Given the description of an element on the screen output the (x, y) to click on. 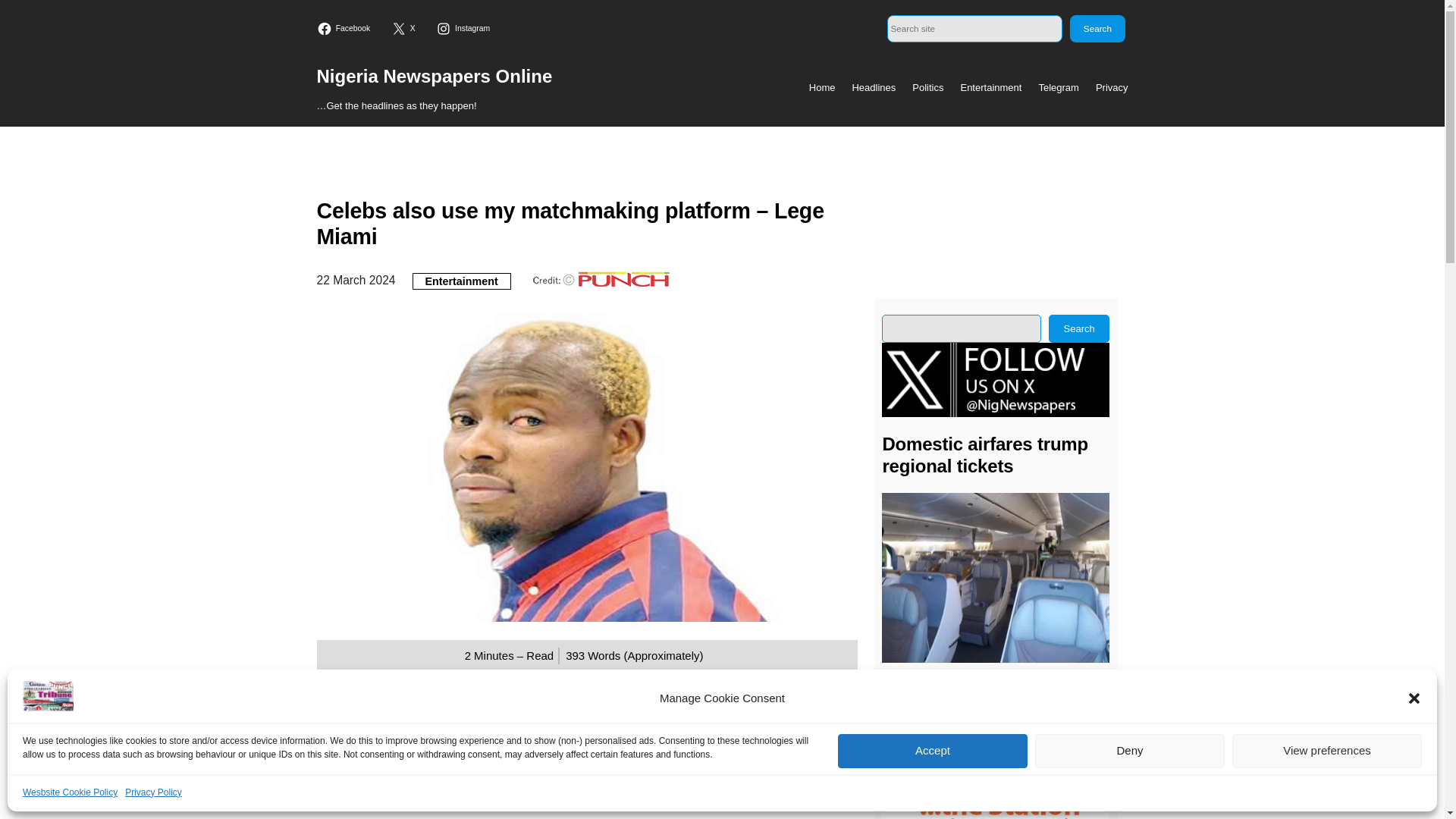
Entertainment (461, 280)
Telegram (1058, 88)
Accept (932, 750)
Nigeria Newspapers Online (435, 76)
Wesbsite Cookie Policy (70, 792)
Entertainment (990, 88)
Home (822, 88)
X (405, 28)
Privacy Policy (153, 792)
Politics (927, 88)
View preferences (1326, 750)
Instagram (465, 28)
Facebook (345, 28)
Headlines (873, 88)
